Given the description of an element on the screen output the (x, y) to click on. 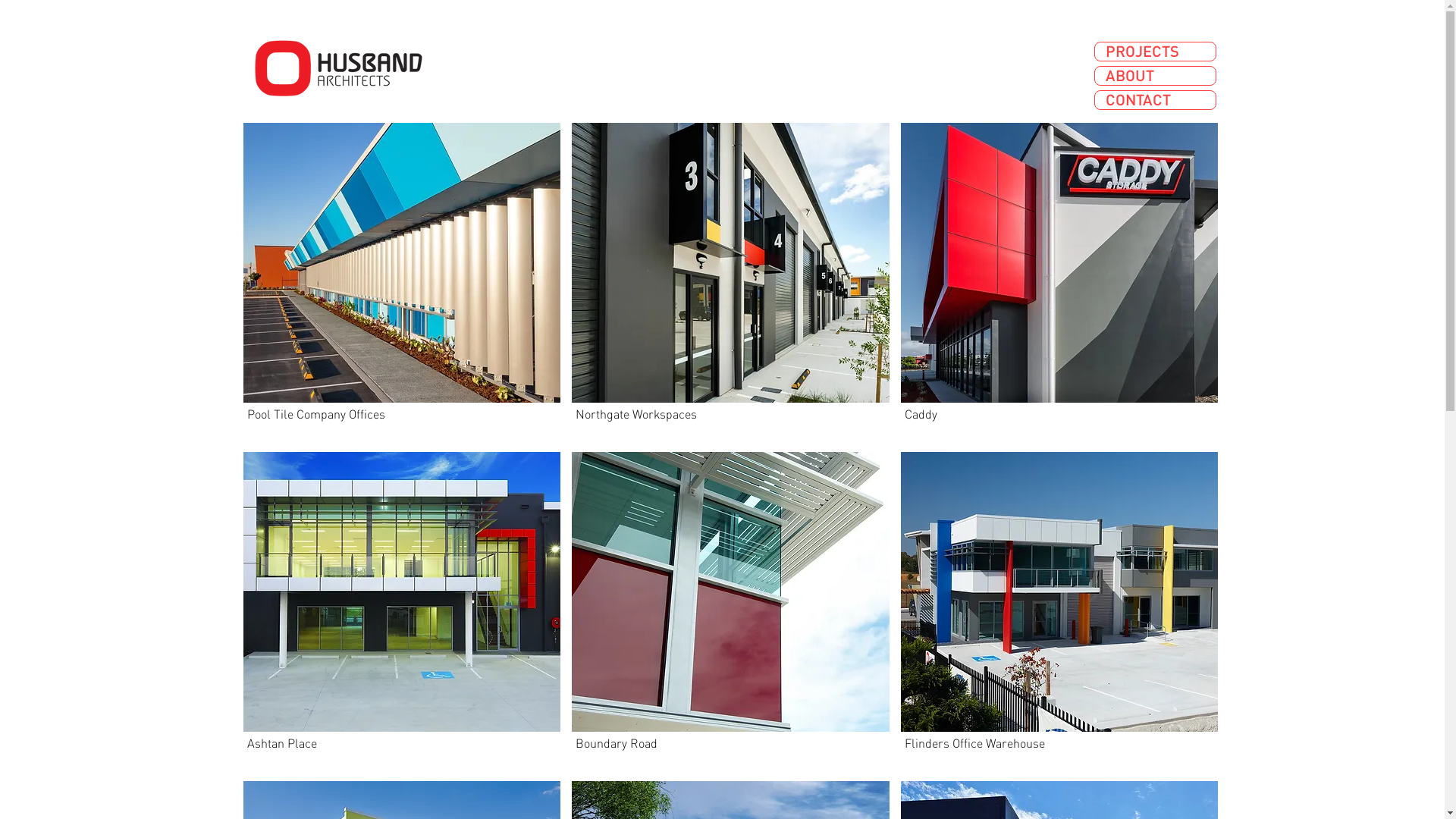
PROJECTS Element type: text (1155, 51)
Boundary Road Element type: text (730, 610)
Northgate Workspaces Element type: text (730, 281)
Flinders Office Warehouse Element type: text (1059, 610)
Caddy Element type: text (1059, 281)
Ashtan Place Element type: text (401, 610)
ABOUT Element type: text (1155, 75)
CONTACT Element type: text (1155, 100)
